Given the description of an element on the screen output the (x, y) to click on. 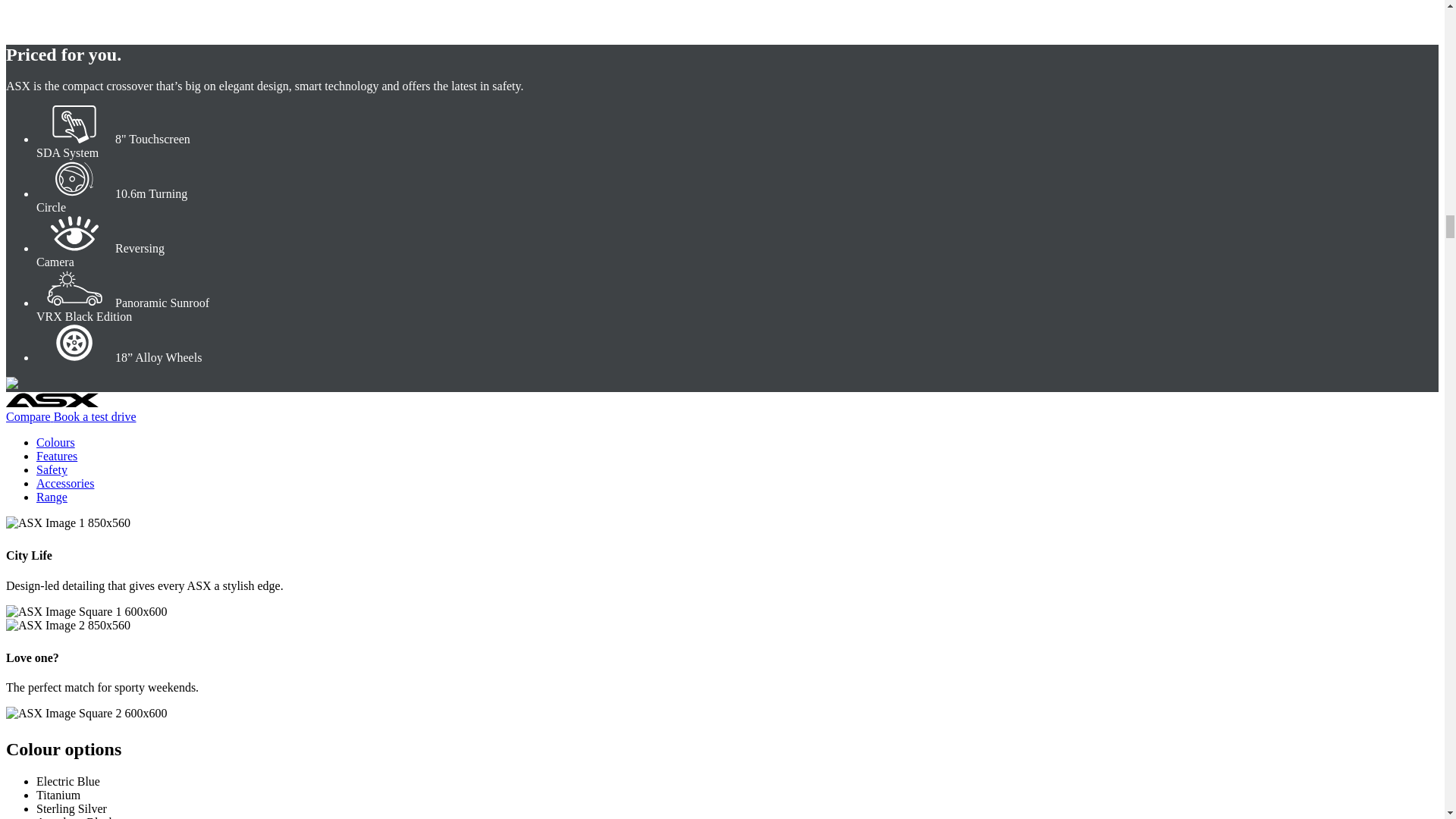
Asset 4 (74, 288)
Colours (55, 441)
Safety (51, 469)
Black-Alloys (74, 342)
logo-asx (52, 402)
logo-asx (52, 399)
Touch Pad Commander (74, 124)
Features (56, 455)
Range (51, 496)
Accessories (65, 482)
